Given the description of an element on the screen output the (x, y) to click on. 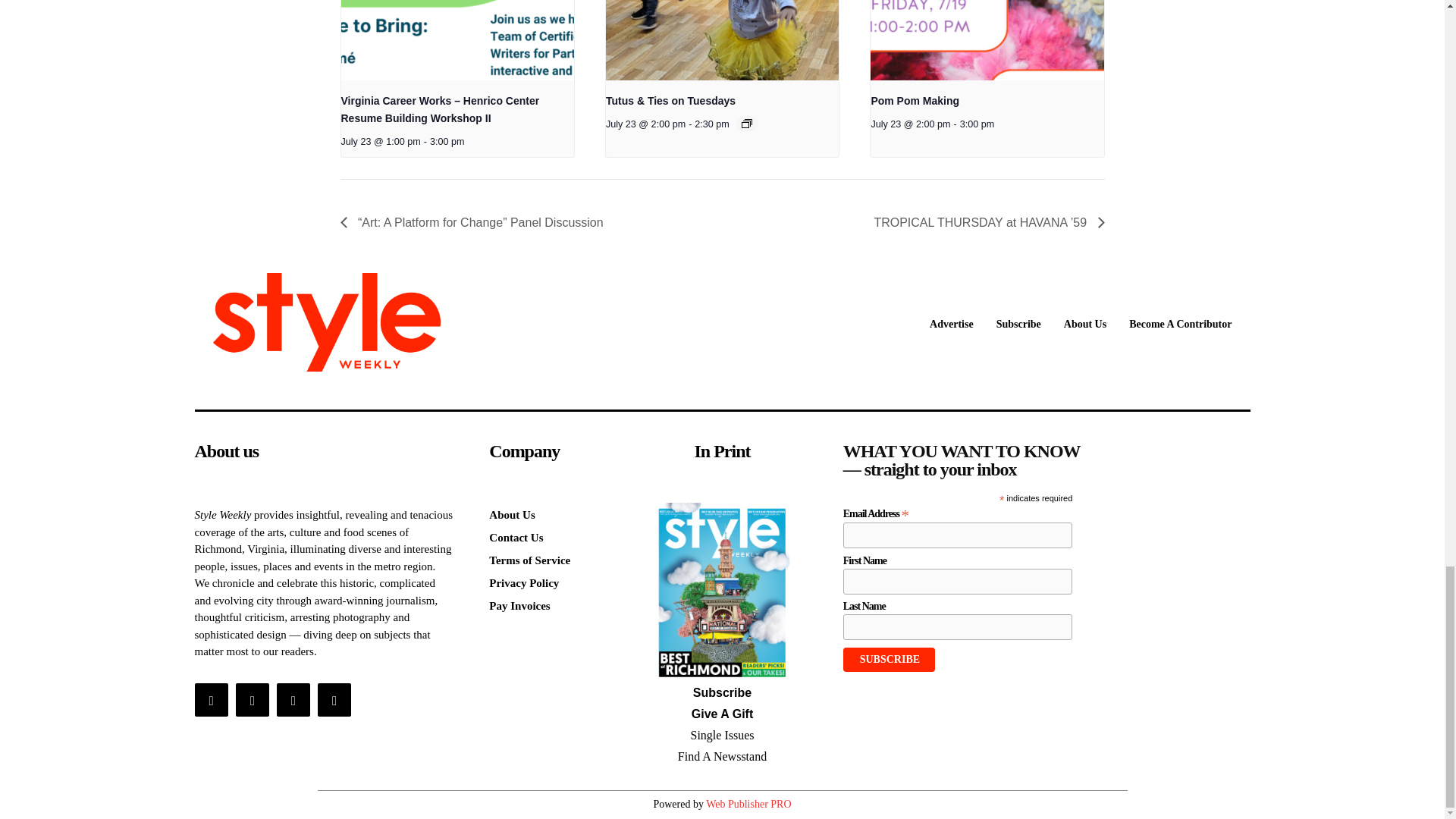
Subscribe (888, 659)
